Given the description of an element on the screen output the (x, y) to click on. 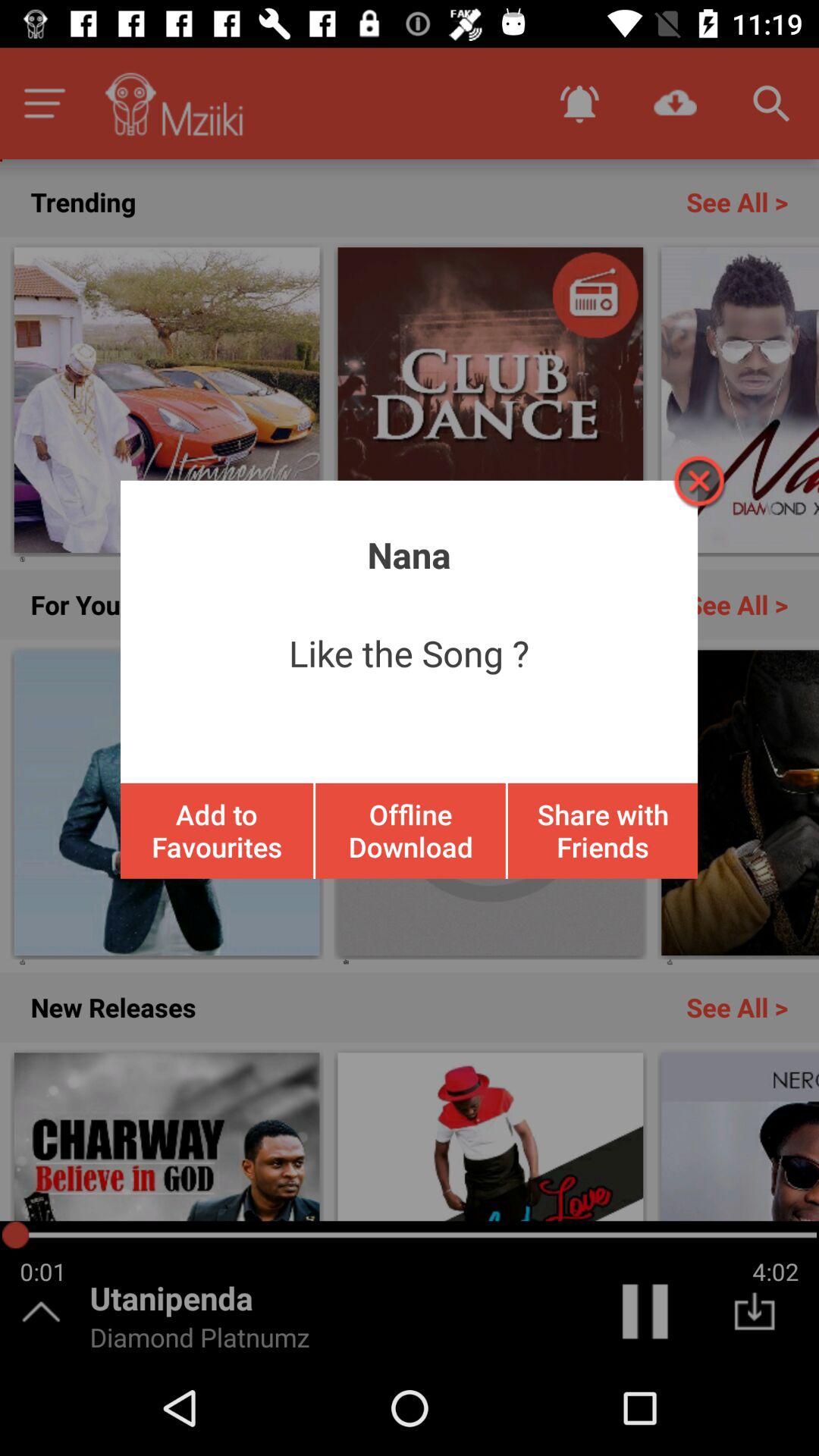
open icon to the right of add to favourites (410, 830)
